Given the description of an element on the screen output the (x, y) to click on. 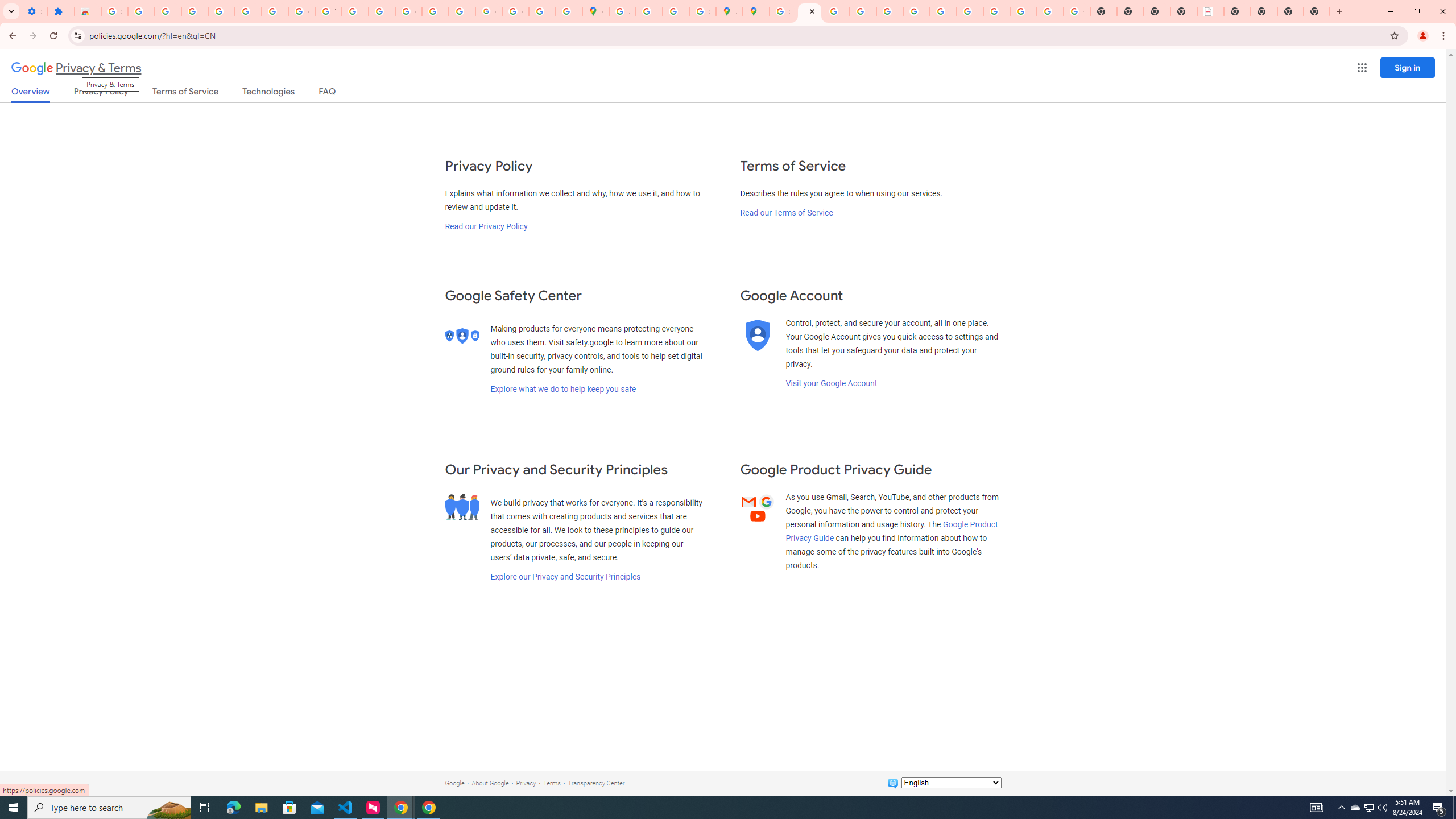
Google (454, 783)
Read our Terms of Service (785, 212)
Privacy (525, 783)
